Given the description of an element on the screen output the (x, y) to click on. 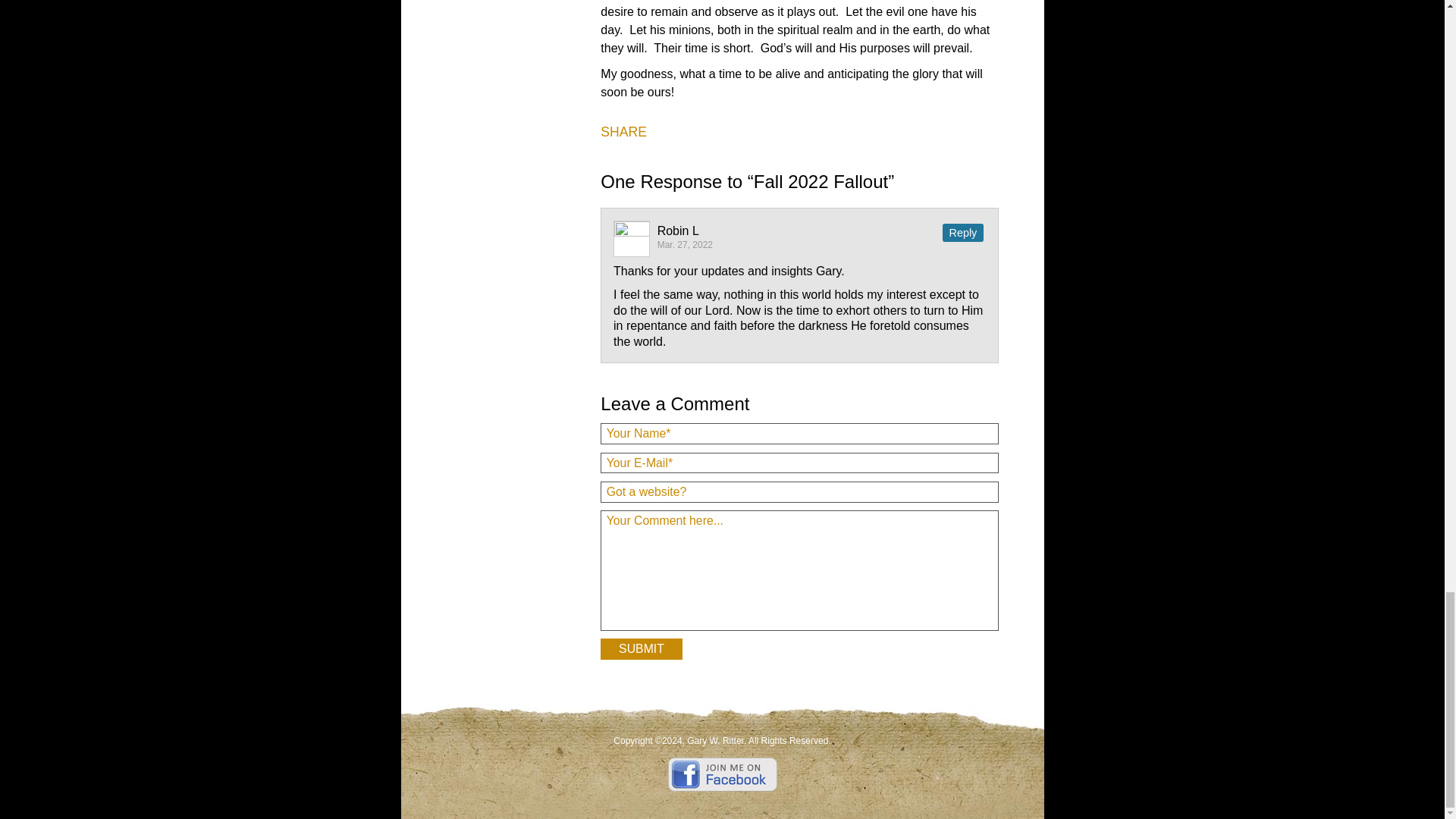
Reply (963, 232)
Mar. 27, 2022 (685, 244)
SHARE (622, 132)
Submit (640, 649)
